Given the description of an element on the screen output the (x, y) to click on. 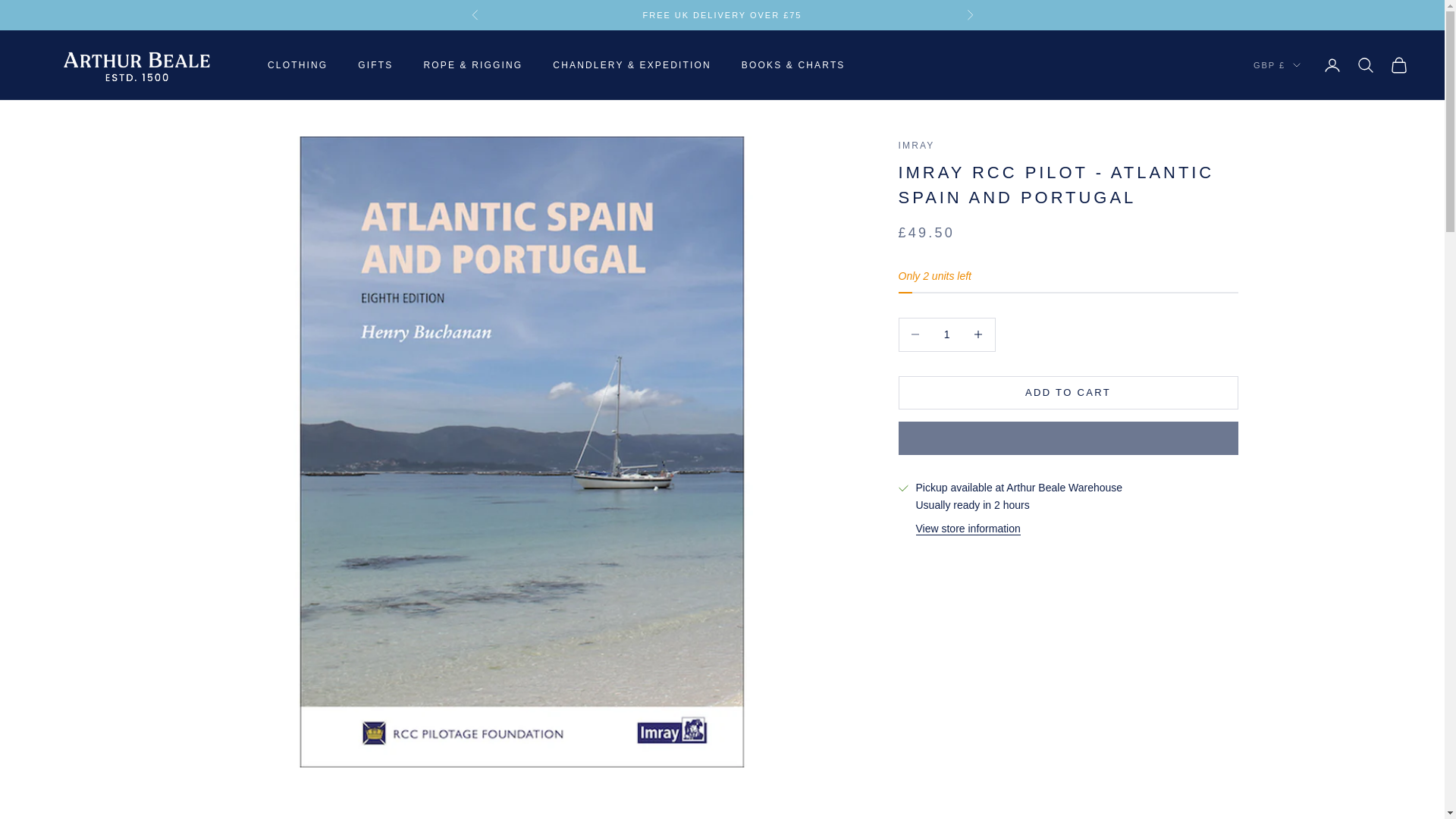
Arthur Beale (136, 65)
1 (946, 334)
